Given the description of an element on the screen output the (x, y) to click on. 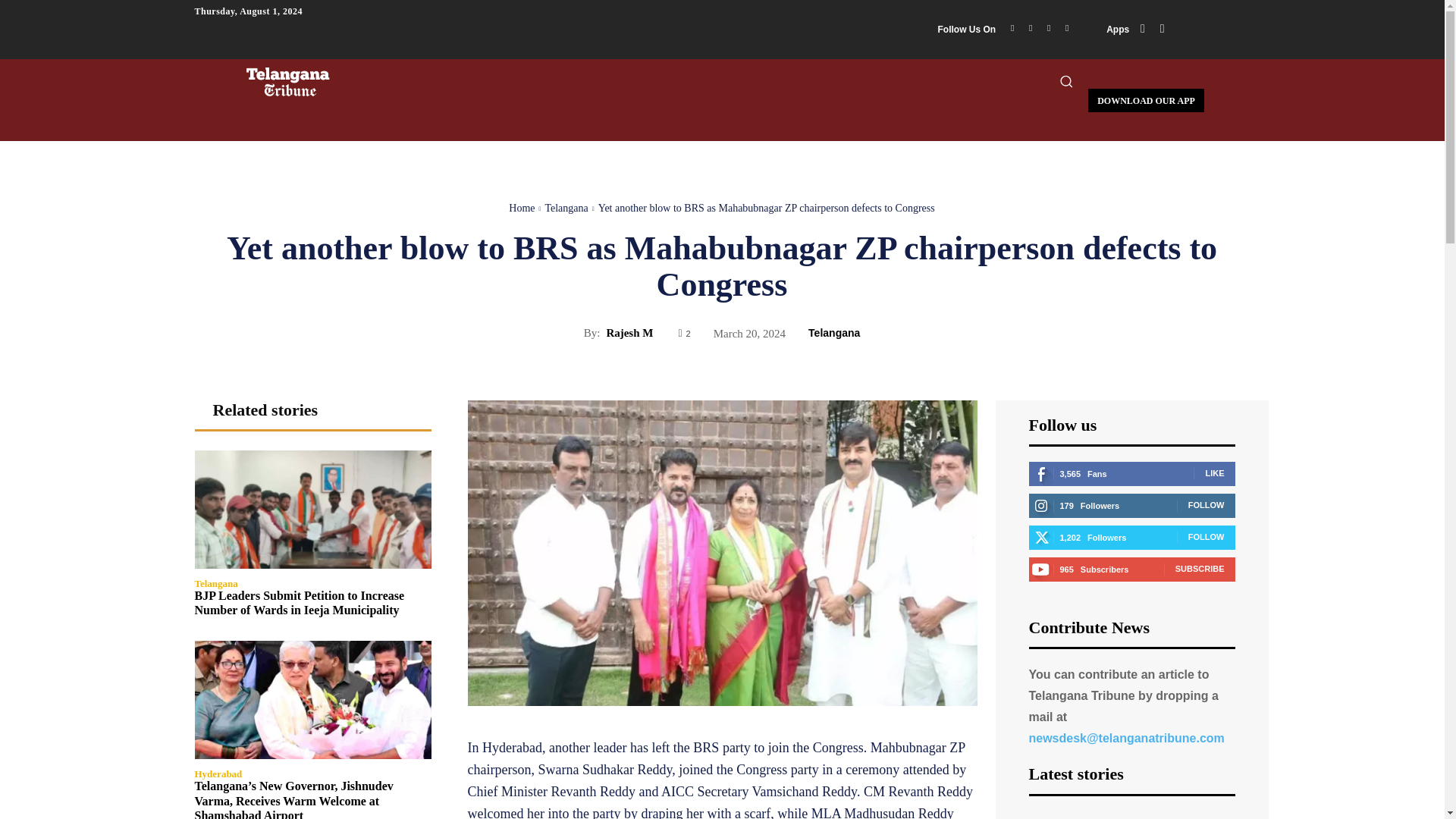
Facebook (1012, 27)
Youtube (1066, 27)
Instagram (1030, 27)
Twitter (1048, 27)
